Given the description of an element on the screen output the (x, y) to click on. 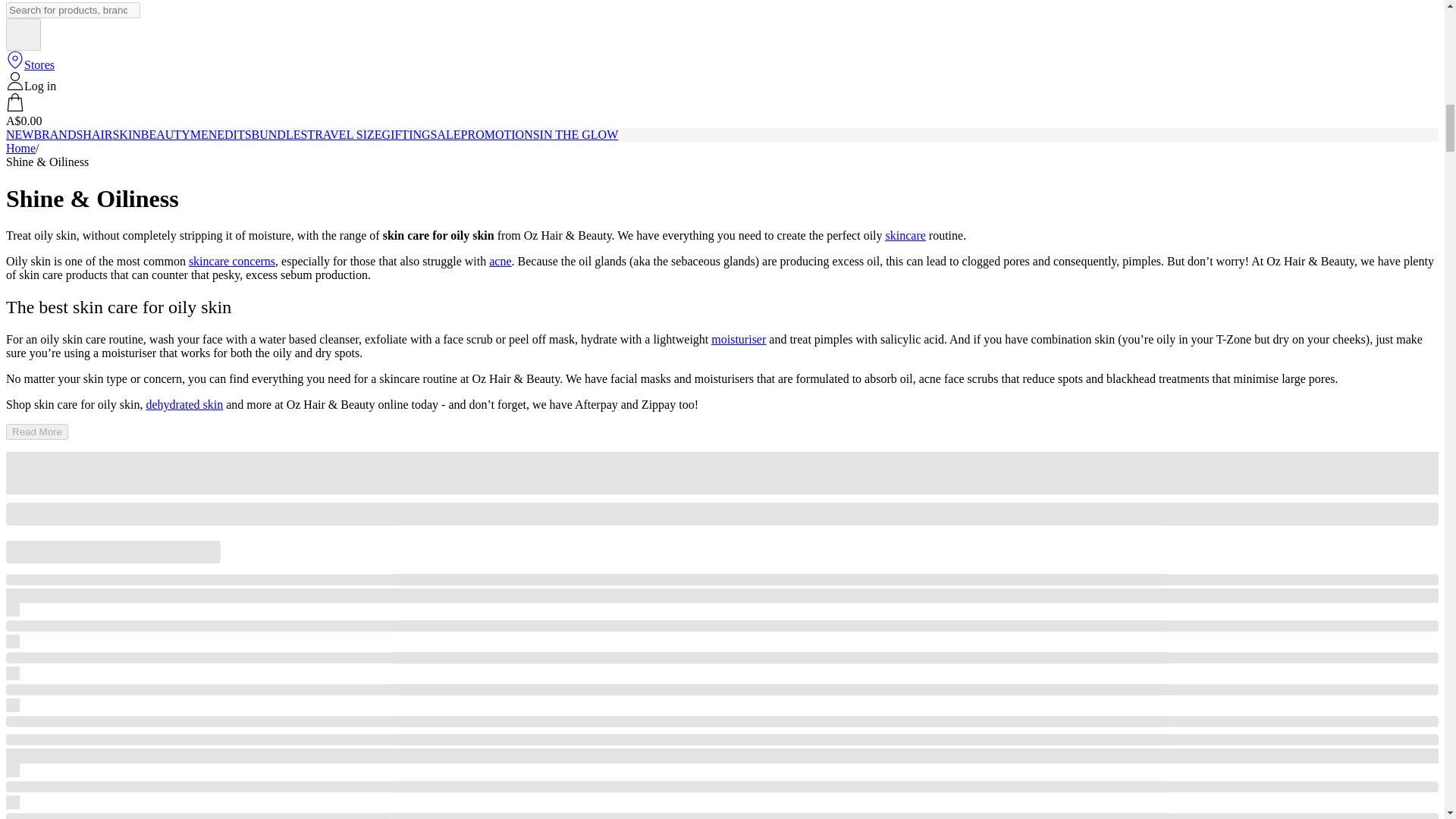
SKIN (125, 133)
NEW (19, 133)
BUNDLES (279, 133)
BRANDS (57, 133)
MEN (203, 133)
TRAVEL SIZE (344, 133)
dehydrated skin (183, 404)
IN THE GLOW (579, 133)
EDITS (233, 133)
moisturiser (738, 338)
